Given the description of an element on the screen output the (x, y) to click on. 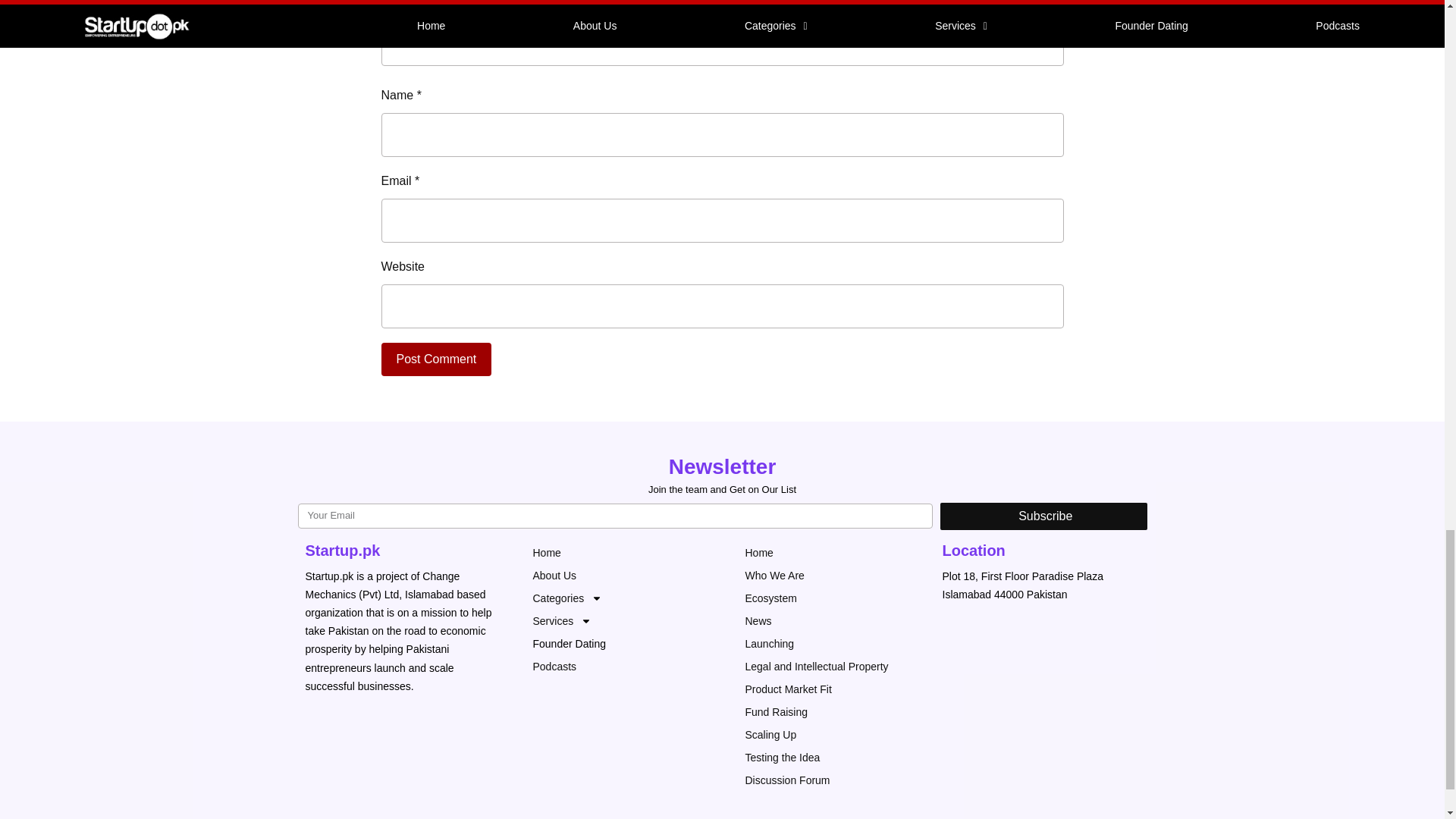
Post Comment (436, 359)
